Given the description of an element on the screen output the (x, y) to click on. 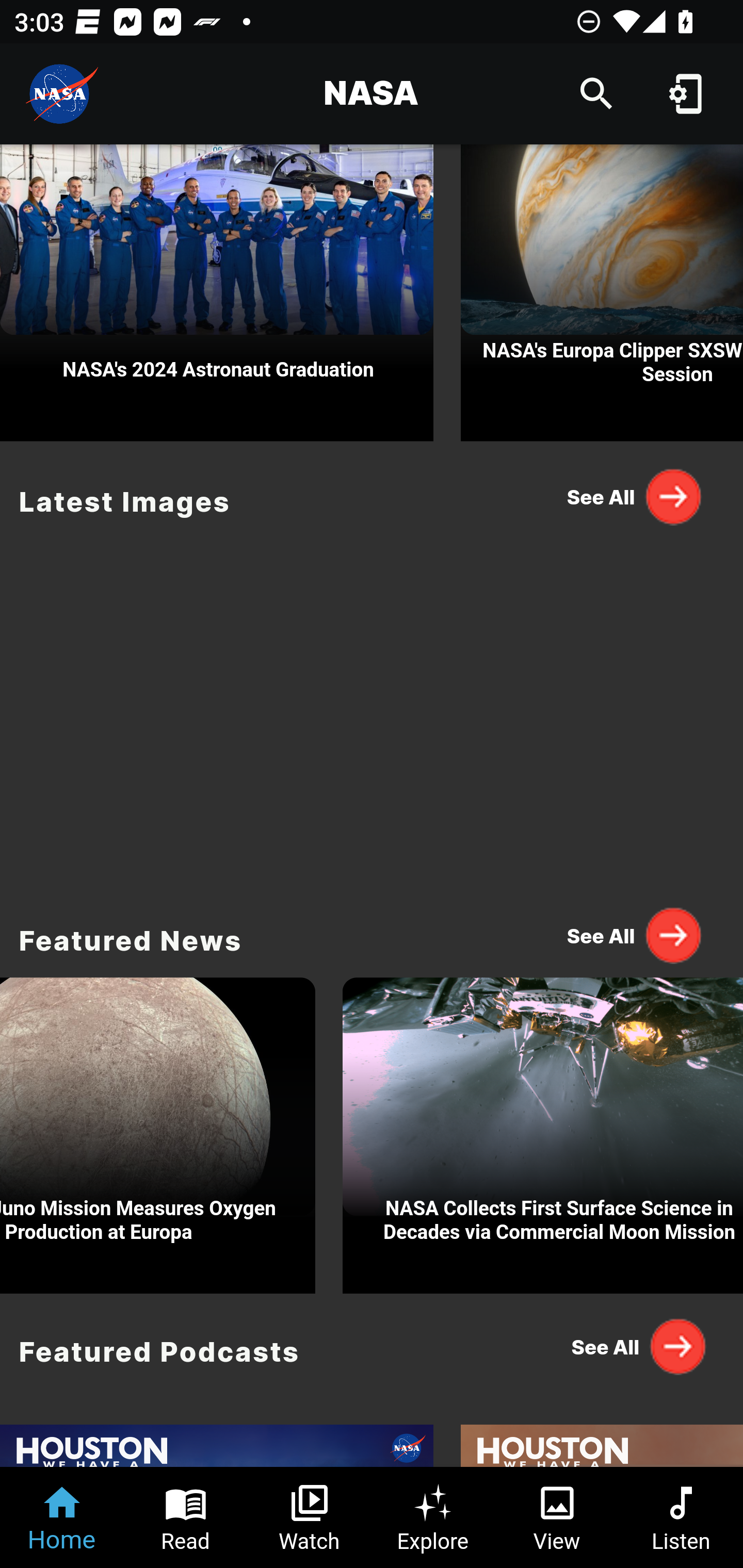
NASA's 2024 Astronaut Graduation (216, 293)
NASA's Europa Clipper SXSW 2024 Opening Session (601, 293)
See All (634, 495)
See All (634, 935)
See All (634, 1346)
Home
Tab 1 of 6 (62, 1517)
Read
Tab 2 of 6 (185, 1517)
Watch
Tab 3 of 6 (309, 1517)
Explore
Tab 4 of 6 (433, 1517)
View
Tab 5 of 6 (556, 1517)
Listen
Tab 6 of 6 (680, 1517)
